Given the description of an element on the screen output the (x, y) to click on. 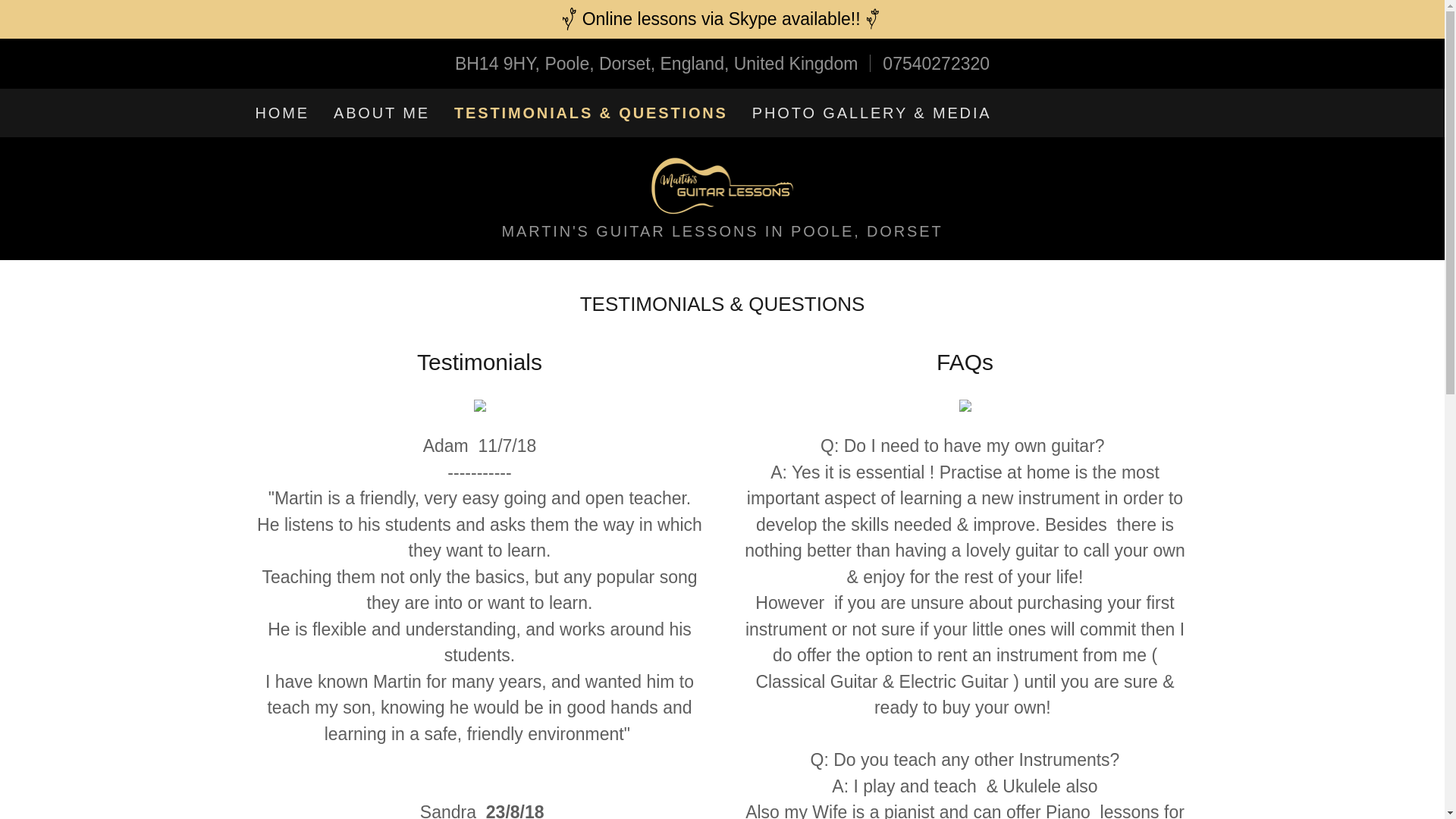
07540272320 (936, 62)
HOME (281, 112)
ABOUT ME (381, 112)
Martin's Guitar Lessons (722, 184)
